Given the description of an element on the screen output the (x, y) to click on. 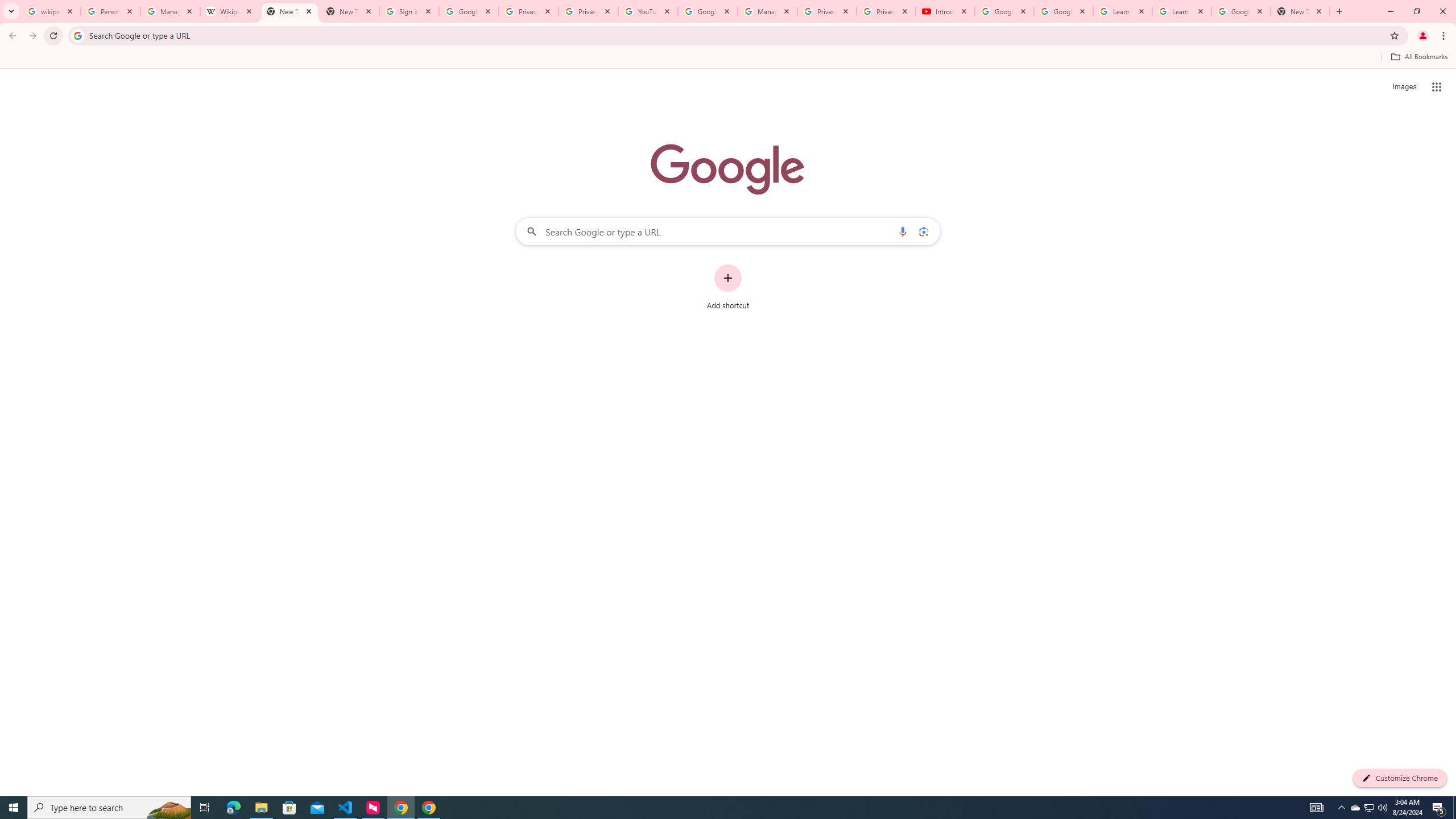
Introduction | Google Privacy Policy - YouTube (944, 11)
